Given the description of an element on the screen output the (x, y) to click on. 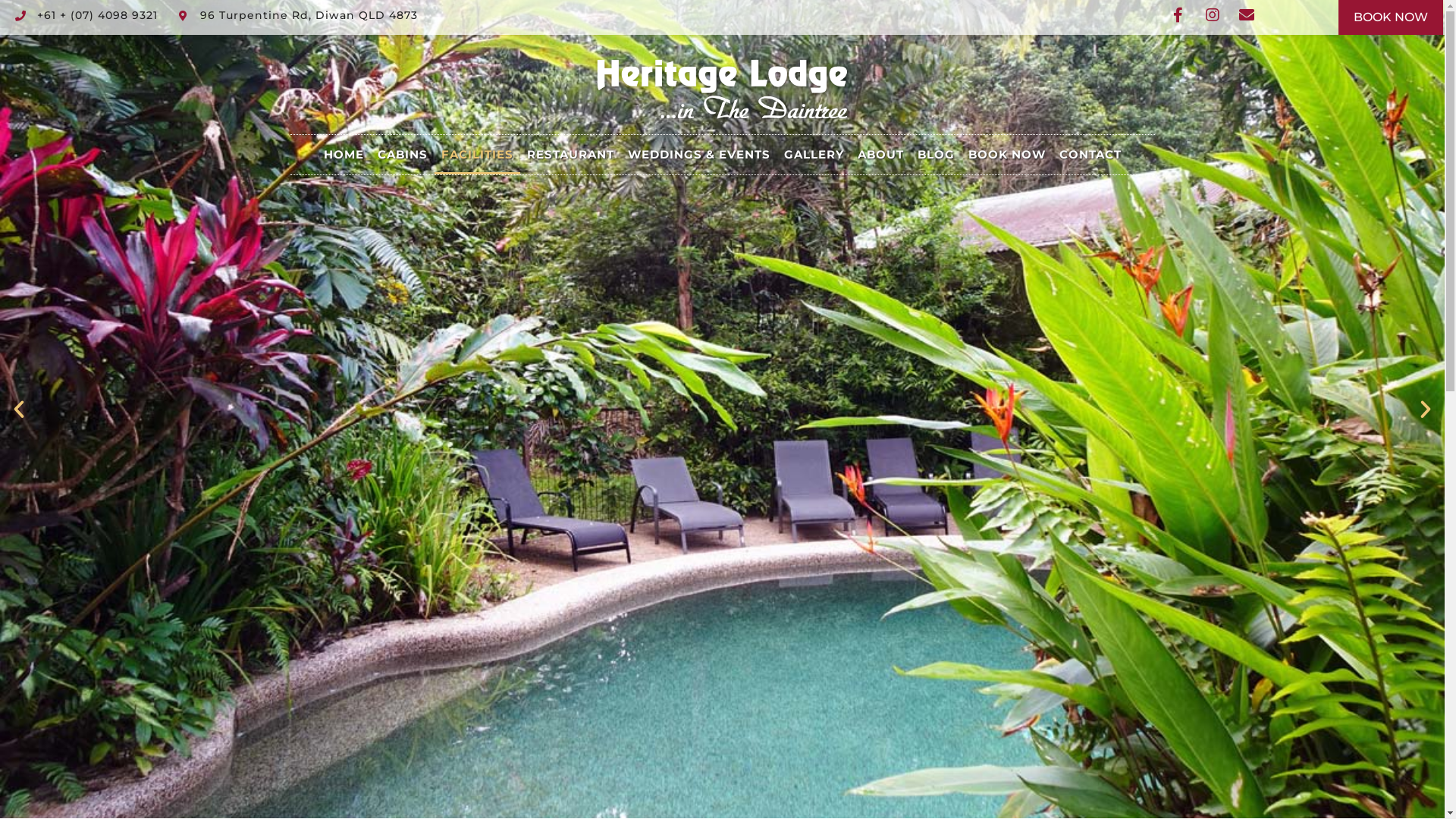
FACILITIES Element type: text (476, 154)
ABOUT Element type: text (880, 154)
GALLERY Element type: text (813, 154)
CONTACT Element type: text (1090, 154)
BOOK NOW Element type: text (1006, 154)
HOME Element type: text (343, 154)
RESTAURANT Element type: text (570, 154)
CABINS Element type: text (401, 154)
BLOG Element type: text (935, 154)
WEDDINGS & EVENTS Element type: text (698, 154)
BOOK NOW Element type: text (1390, 17)
